Given the description of an element on the screen output the (x, y) to click on. 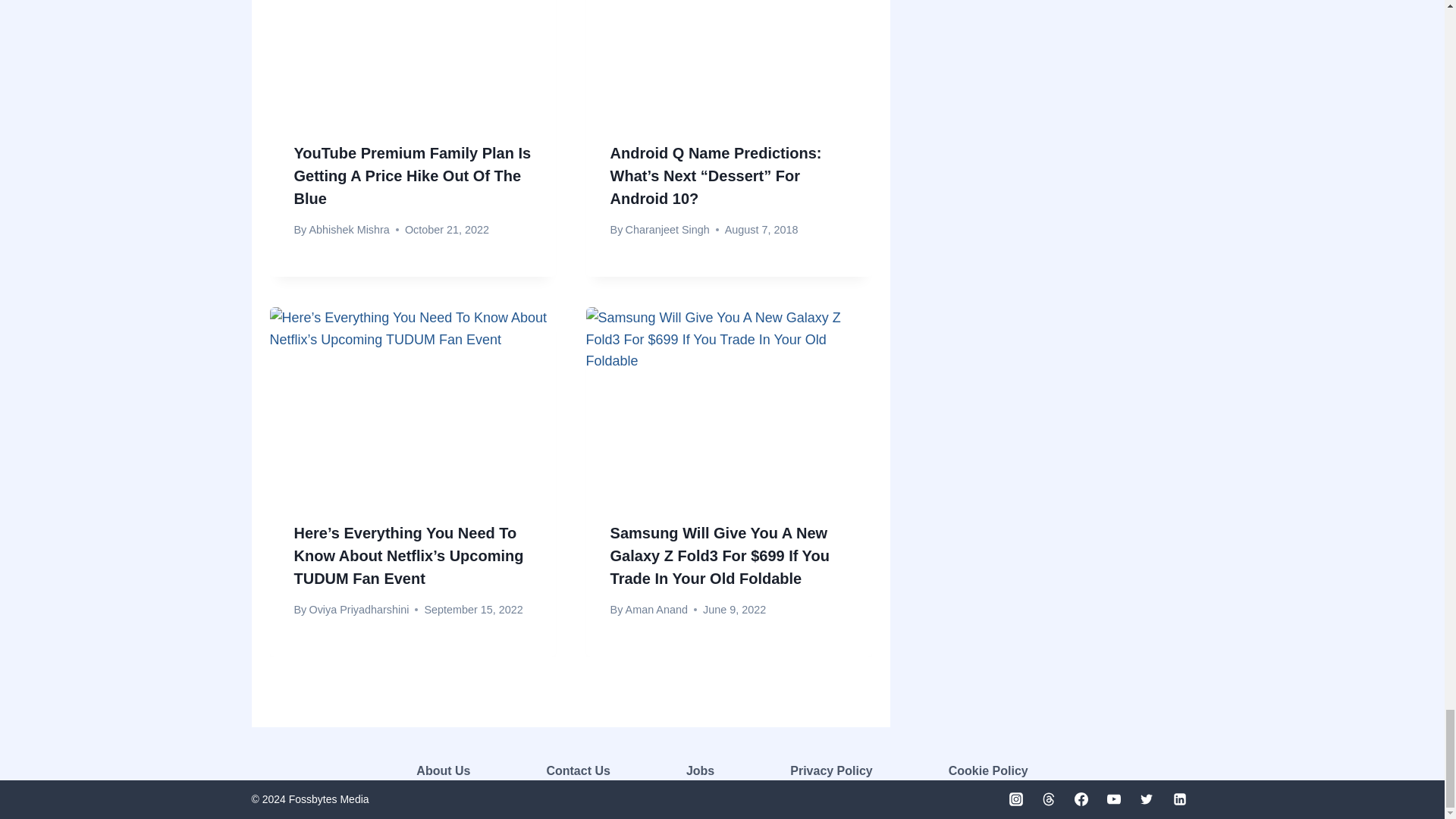
Abhishek Mishra (348, 229)
